Given the description of an element on the screen output the (x, y) to click on. 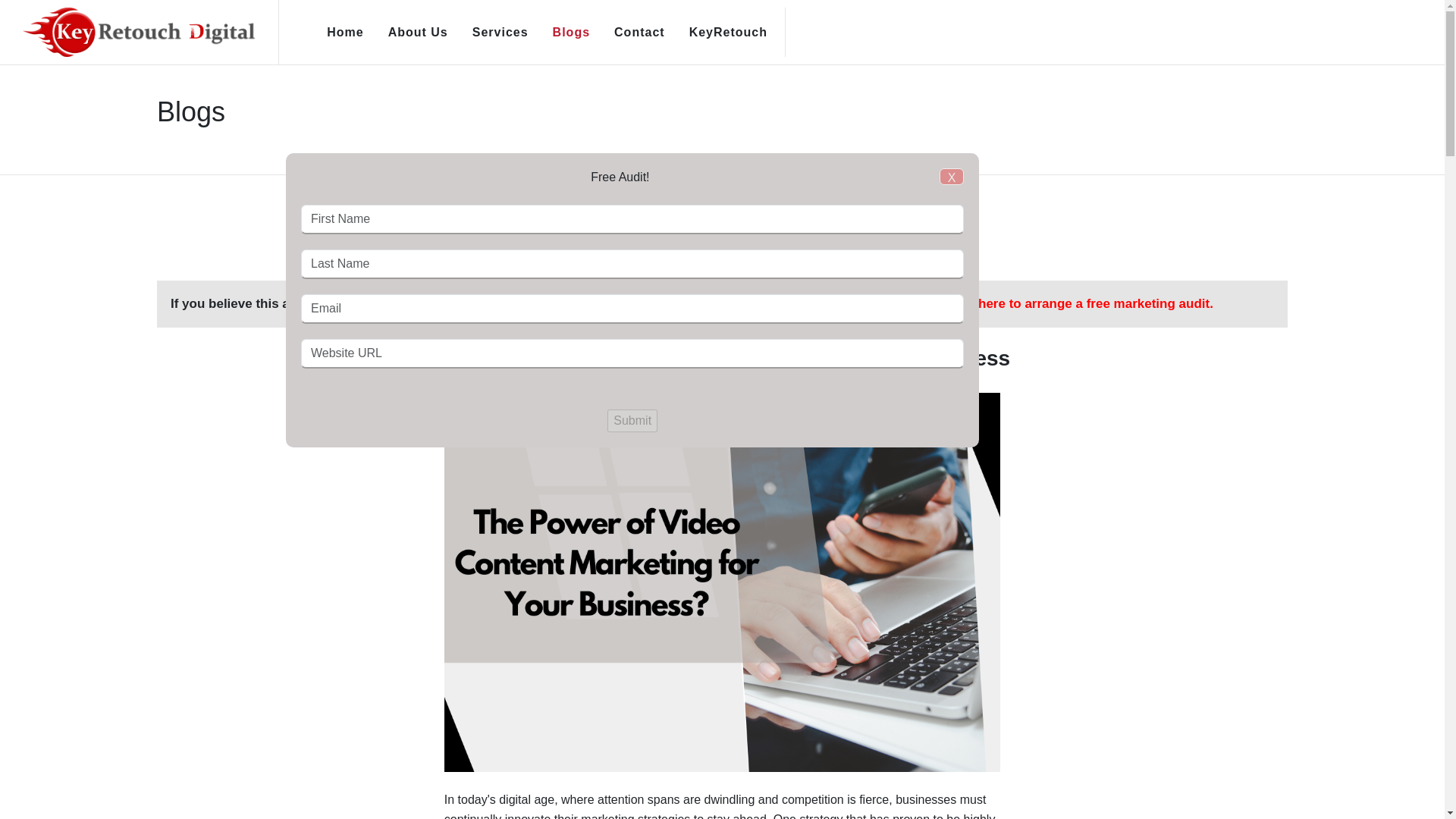
Click here to arrange a free marketing audit. (1077, 303)
X (866, 271)
Contact (639, 31)
Home (344, 31)
KeyRetouch (728, 31)
About Us (418, 31)
Blogs (571, 31)
Enquiry Now (722, 243)
Services (500, 31)
Submit (632, 420)
